Given the description of an element on the screen output the (x, y) to click on. 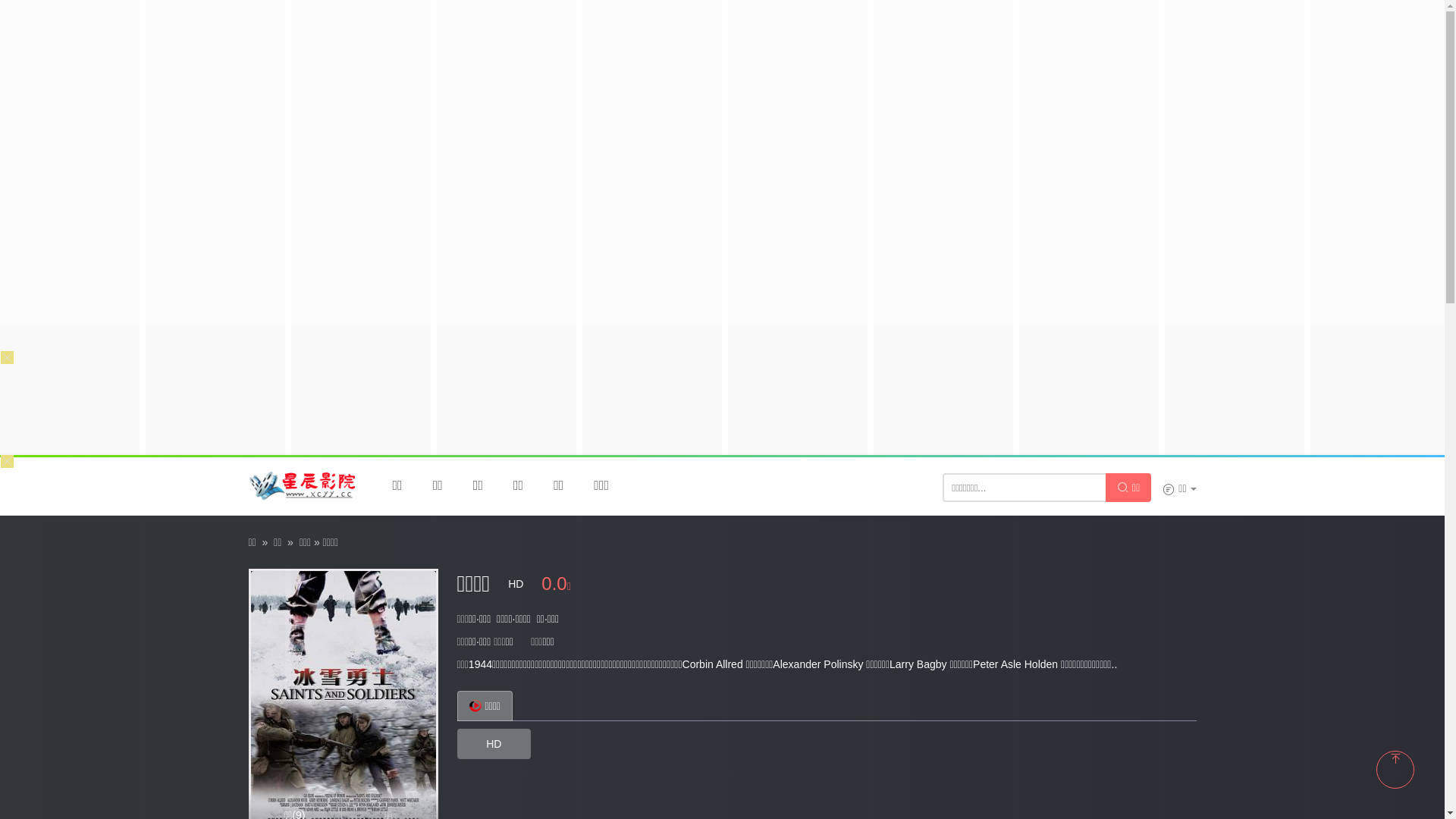
HD Element type: text (493, 743)
logo Element type: hover (301, 485)
